Given the description of an element on the screen output the (x, y) to click on. 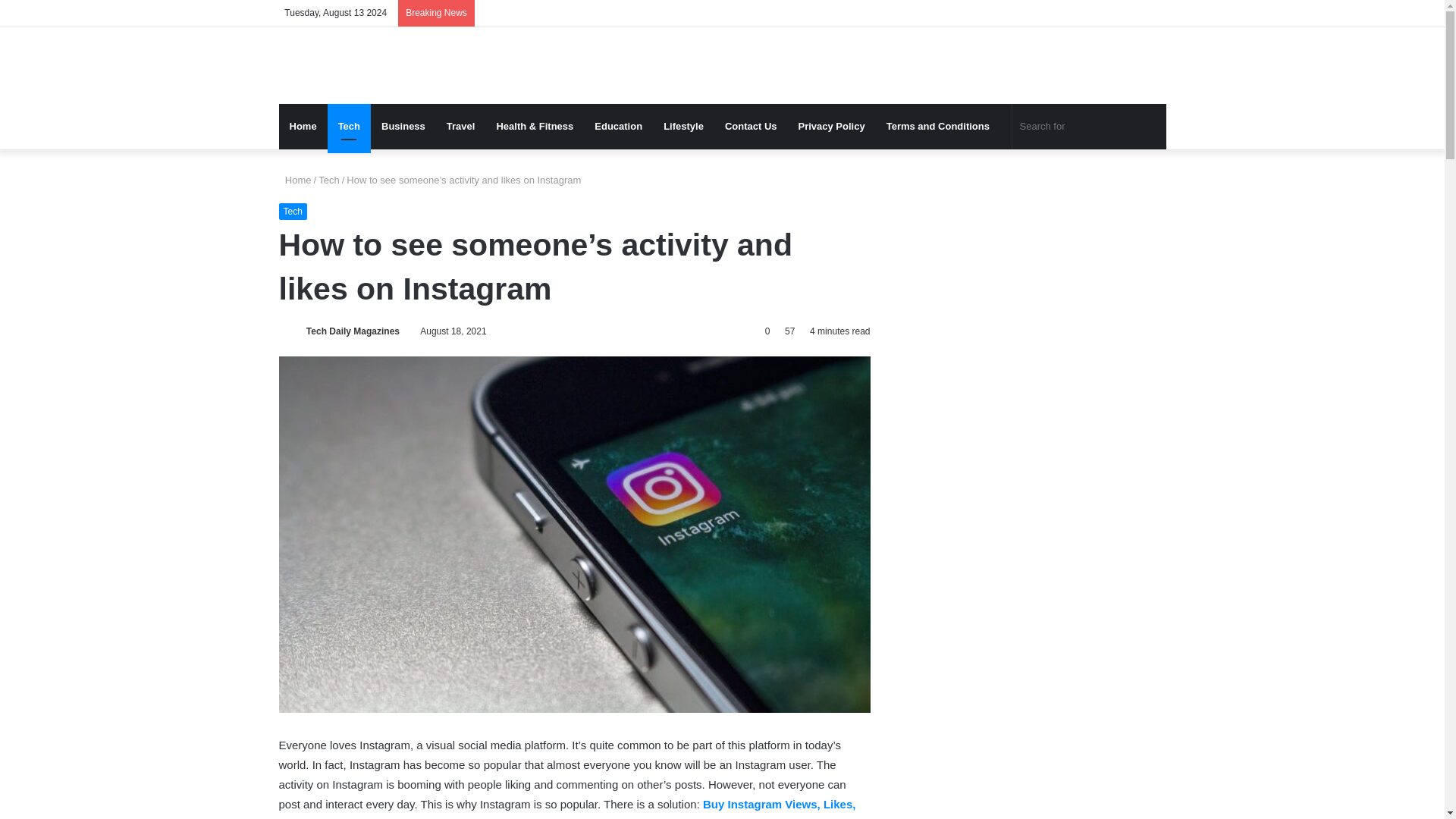
Business (403, 126)
Tech Daily Magazines (351, 330)
Education (617, 126)
Tech (328, 179)
Terms and Conditions  (939, 126)
Tech (293, 211)
Lifestyle (683, 126)
Tech (349, 126)
Contact Us (750, 126)
Travel (460, 126)
